Given the description of an element on the screen output the (x, y) to click on. 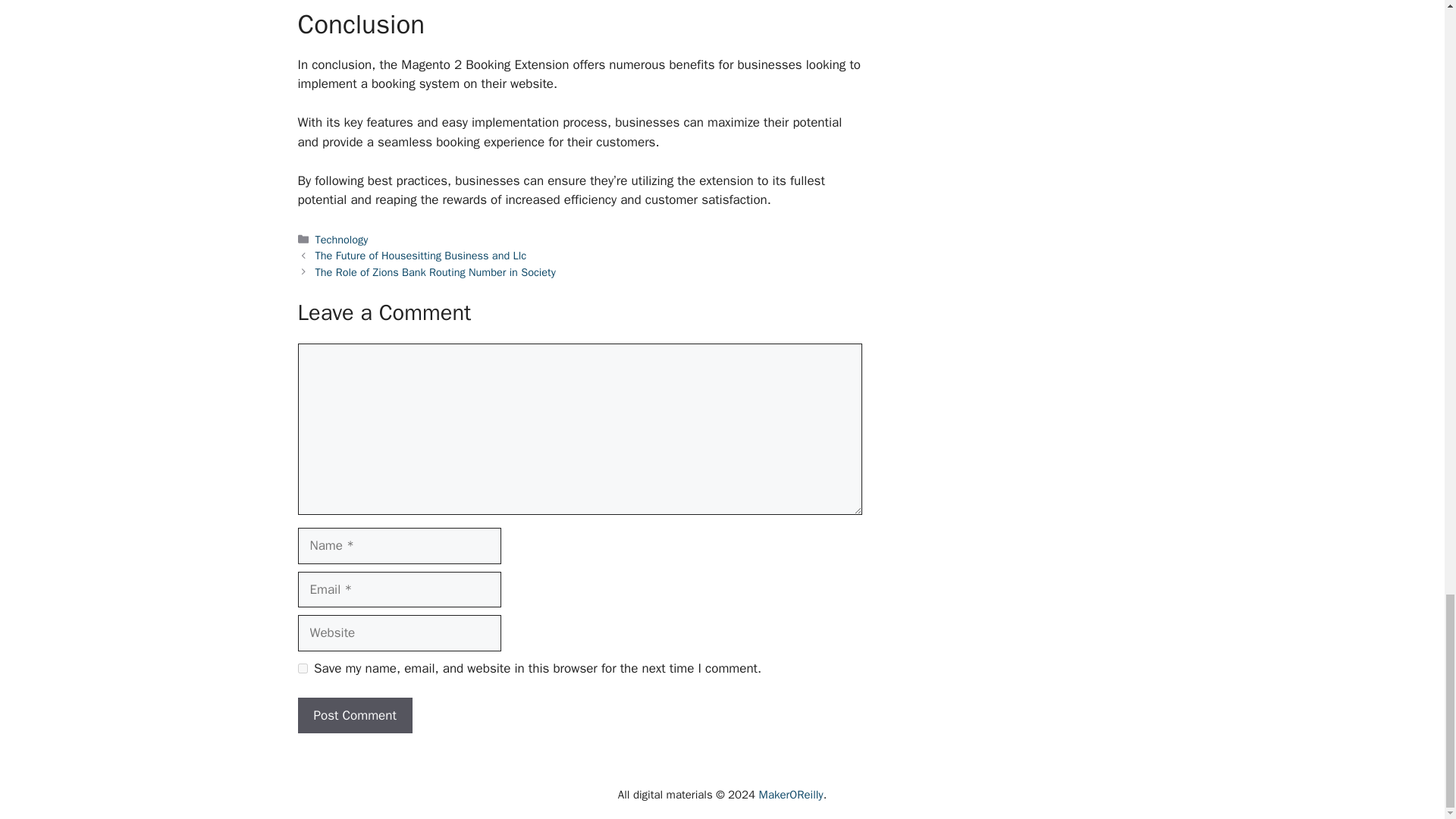
MakerOReilly (791, 794)
Post Comment (354, 715)
yes (302, 668)
Technology (341, 239)
The Role of Zions Bank Routing Number in Society (435, 272)
The Future of Housesitting Business and Llc (421, 255)
Post Comment (354, 715)
